Given the description of an element on the screen output the (x, y) to click on. 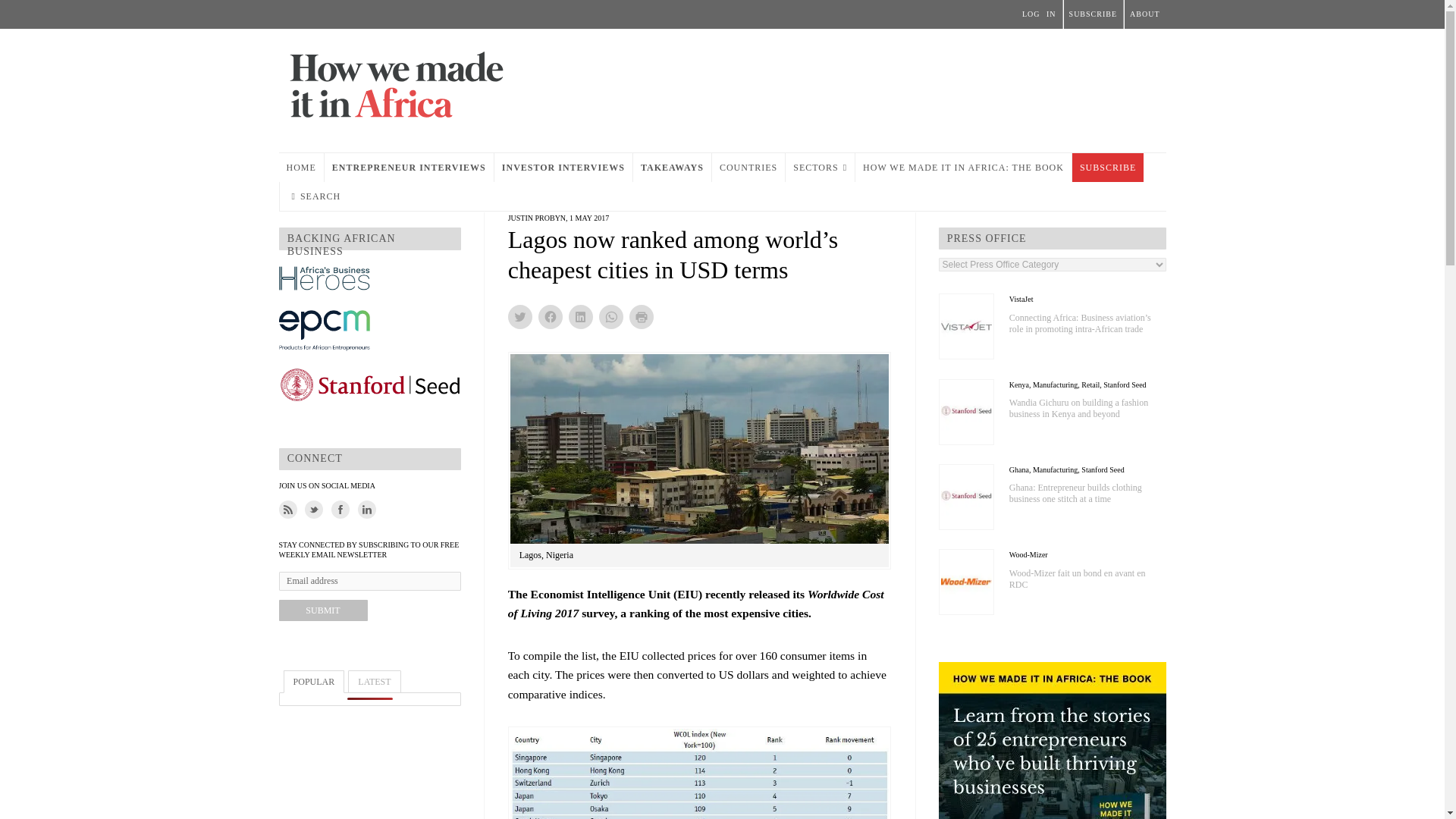
ENTREPRENEUR INTERVIEWS (408, 167)
COUNTRIES (747, 167)
SUBSCRIBE (1106, 167)
Click to share on WhatsApp (610, 316)
Posts by Justin Probyn (537, 217)
JUSTIN PROBYN (537, 217)
HOME (301, 167)
Click to share on Facebook (550, 316)
TAKEAWAYS (672, 167)
SEARCH (315, 195)
Submit (323, 609)
Click to print (640, 316)
Click to share on Twitter (520, 316)
INVESTOR INTERVIEWS (563, 167)
HOW WE MADE IT IN AFRICA: THE BOOK (963, 167)
